Given the description of an element on the screen output the (x, y) to click on. 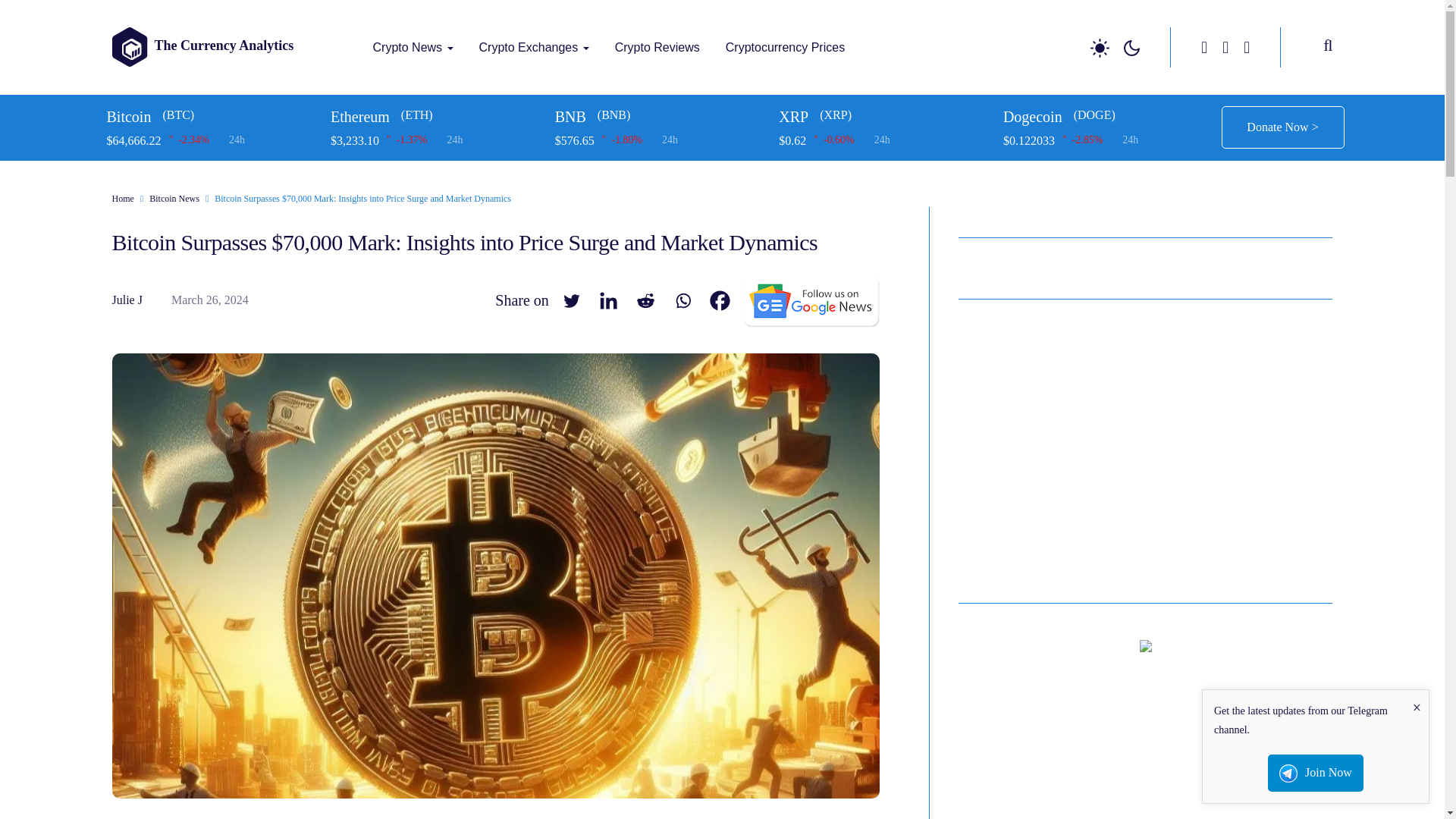
Bitcoin (212, 116)
Ethereum (436, 116)
Crypto Reviews (657, 47)
Crypto Exchanges (533, 47)
Crypto News (412, 47)
Cryptocurrency Prices (785, 47)
Crypto Exchanges (533, 47)
Crypto News (412, 47)
The Currency analytics (379, 77)
